Given the description of an element on the screen output the (x, y) to click on. 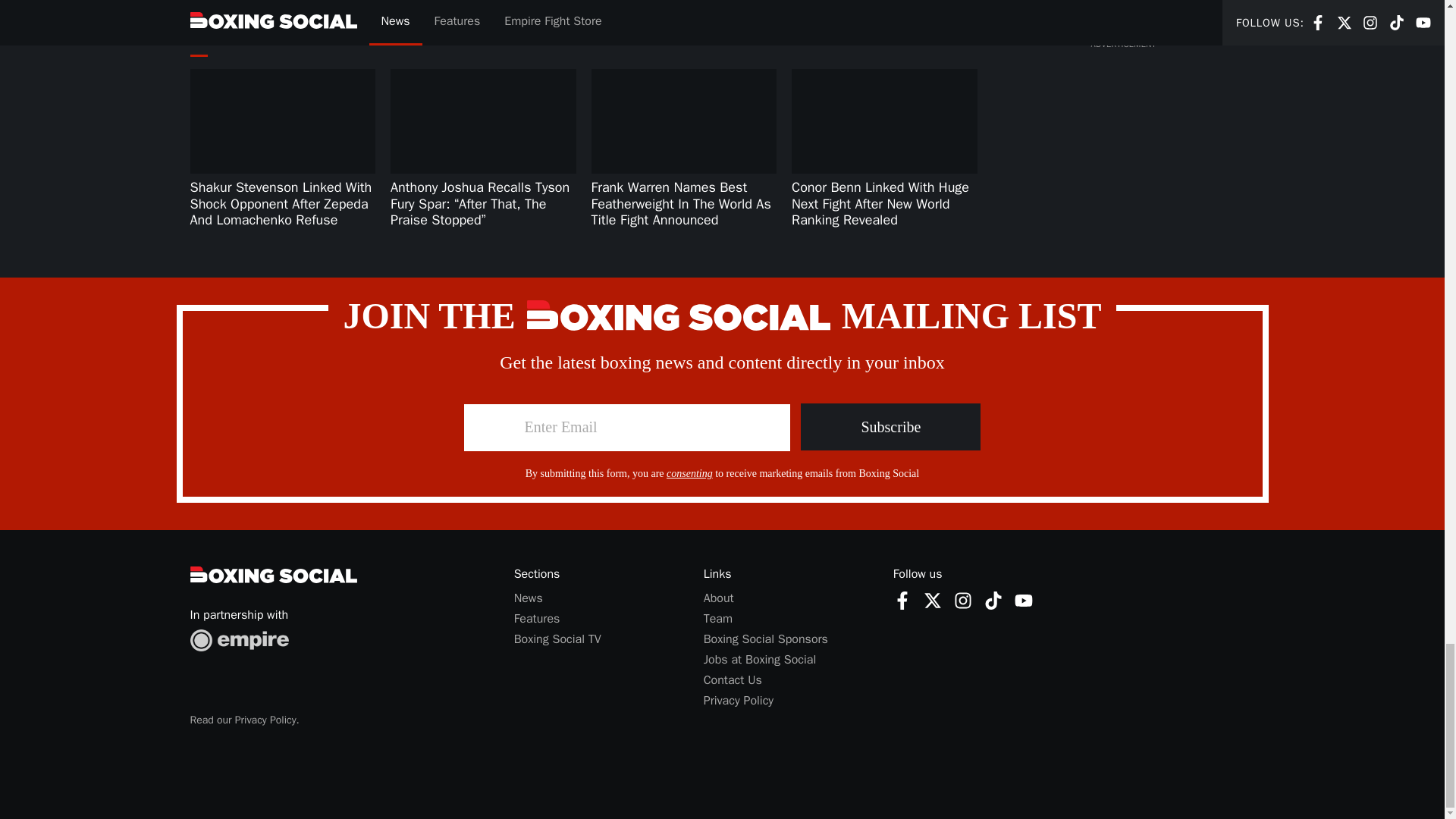
Jobs at Boxing Social (759, 659)
consenting (689, 473)
Facebook (902, 600)
About (718, 598)
Subscribe (889, 426)
Boxing Social TV (557, 639)
TikTok (993, 600)
YouTube (1023, 600)
Team (717, 618)
